Given the description of an element on the screen output the (x, y) to click on. 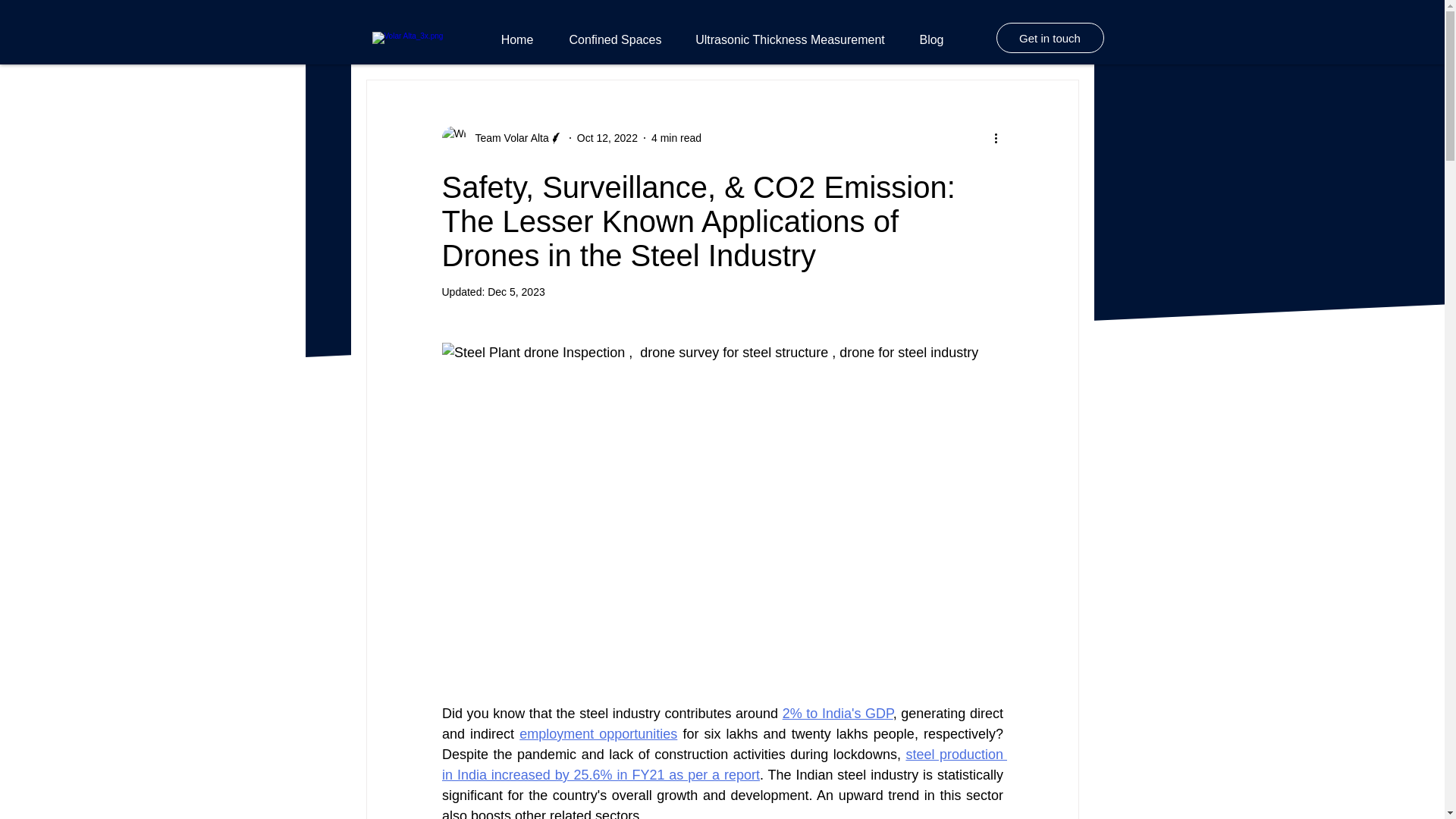
Ultrasonic Thickness Measurement (790, 39)
Home (516, 39)
Oct 12, 2022 (606, 137)
employment opportunities (598, 734)
4 min read (675, 137)
Get in touch (1049, 37)
Dec 5, 2023 (515, 291)
Blog (930, 39)
Confined Spaces (615, 39)
Team Volar Alta (506, 138)
